Given the description of an element on the screen output the (x, y) to click on. 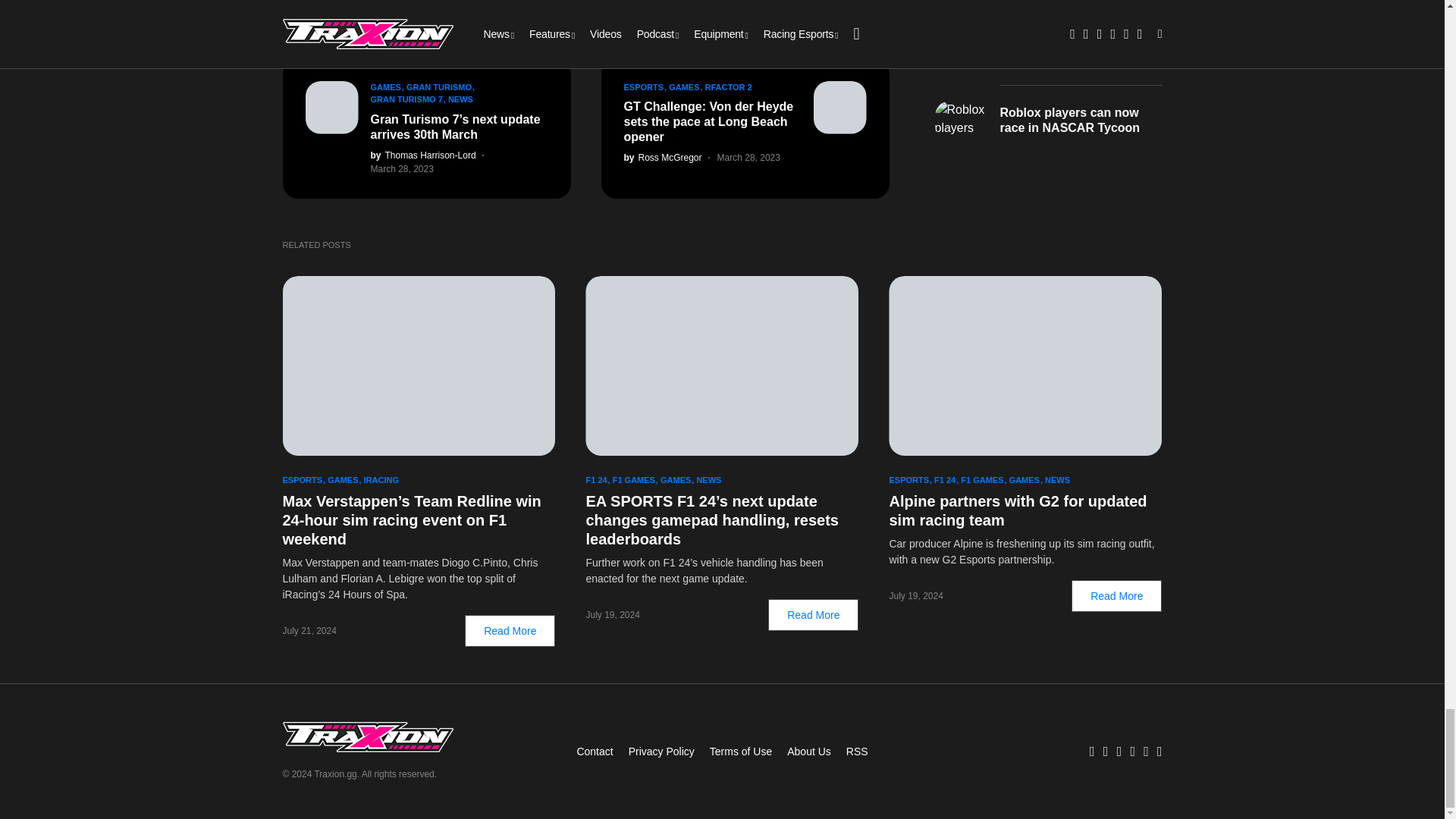
View all posts by Ross McGregor (662, 157)
View all posts by Thomas Harrison-Lord (422, 155)
